Given the description of an element on the screen output the (x, y) to click on. 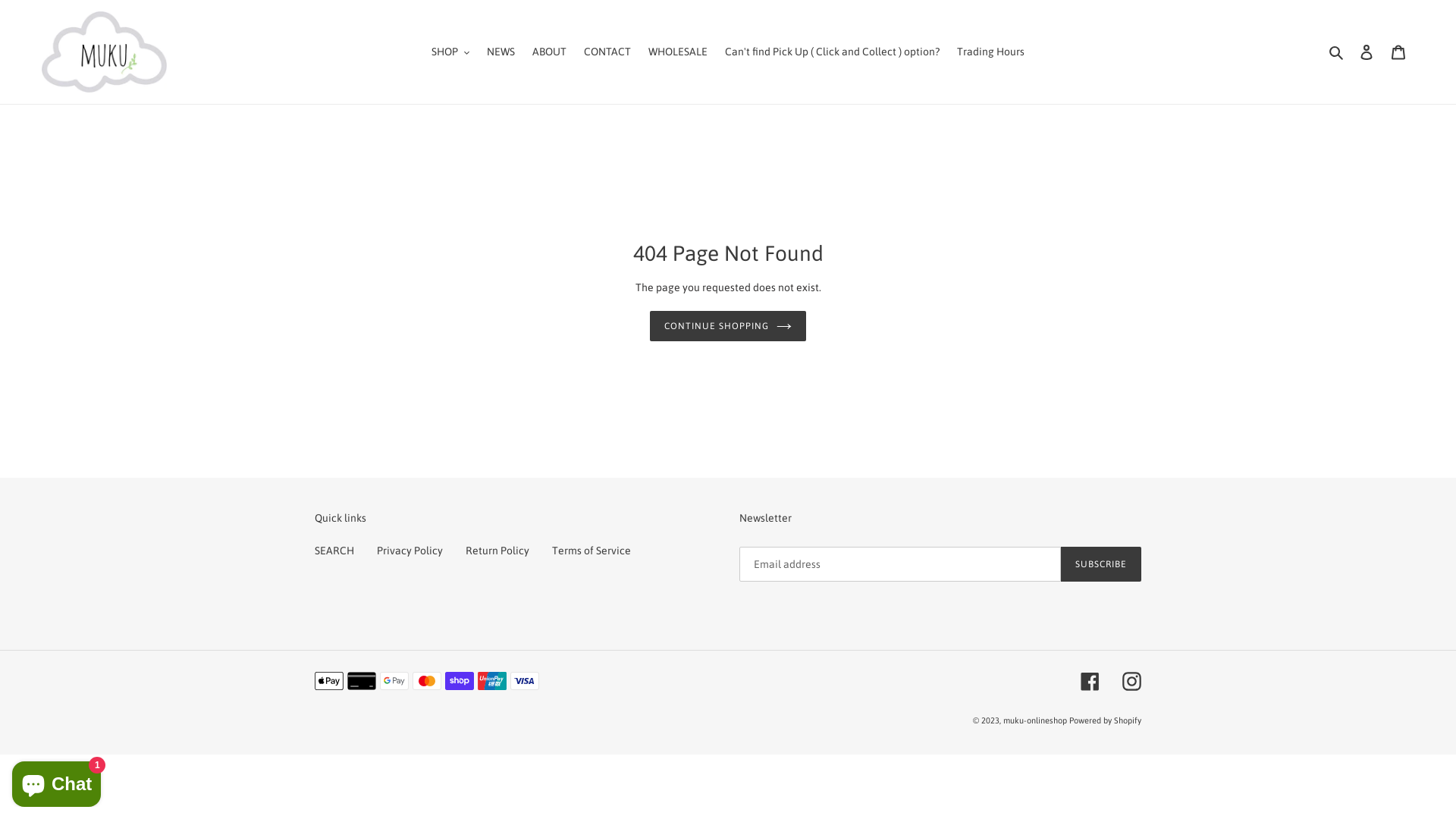
Shopify online store chat Element type: hover (56, 780)
CONTACT Element type: text (607, 51)
SHOP Element type: text (449, 51)
SUBSCRIBE Element type: text (1100, 564)
Log in Element type: text (1366, 51)
Return Policy Element type: text (497, 551)
CONTINUE SHOPPING Element type: text (727, 325)
Trading Hours Element type: text (990, 51)
WHOLESALE Element type: text (677, 51)
NEWS Element type: text (500, 51)
Privacy Policy Element type: text (409, 551)
muku-onlineshop Element type: text (1034, 720)
Facebook Element type: text (1089, 680)
SEARCH Element type: text (334, 551)
Terms of Service Element type: text (591, 551)
Cart Element type: text (1398, 51)
Search Element type: text (1337, 51)
Can't find Pick Up ( Click and Collect ) option? Element type: text (832, 51)
Powered by Shopify Element type: text (1105, 720)
ABOUT Element type: text (549, 51)
Instagram Element type: text (1131, 680)
